Given the description of an element on the screen output the (x, y) to click on. 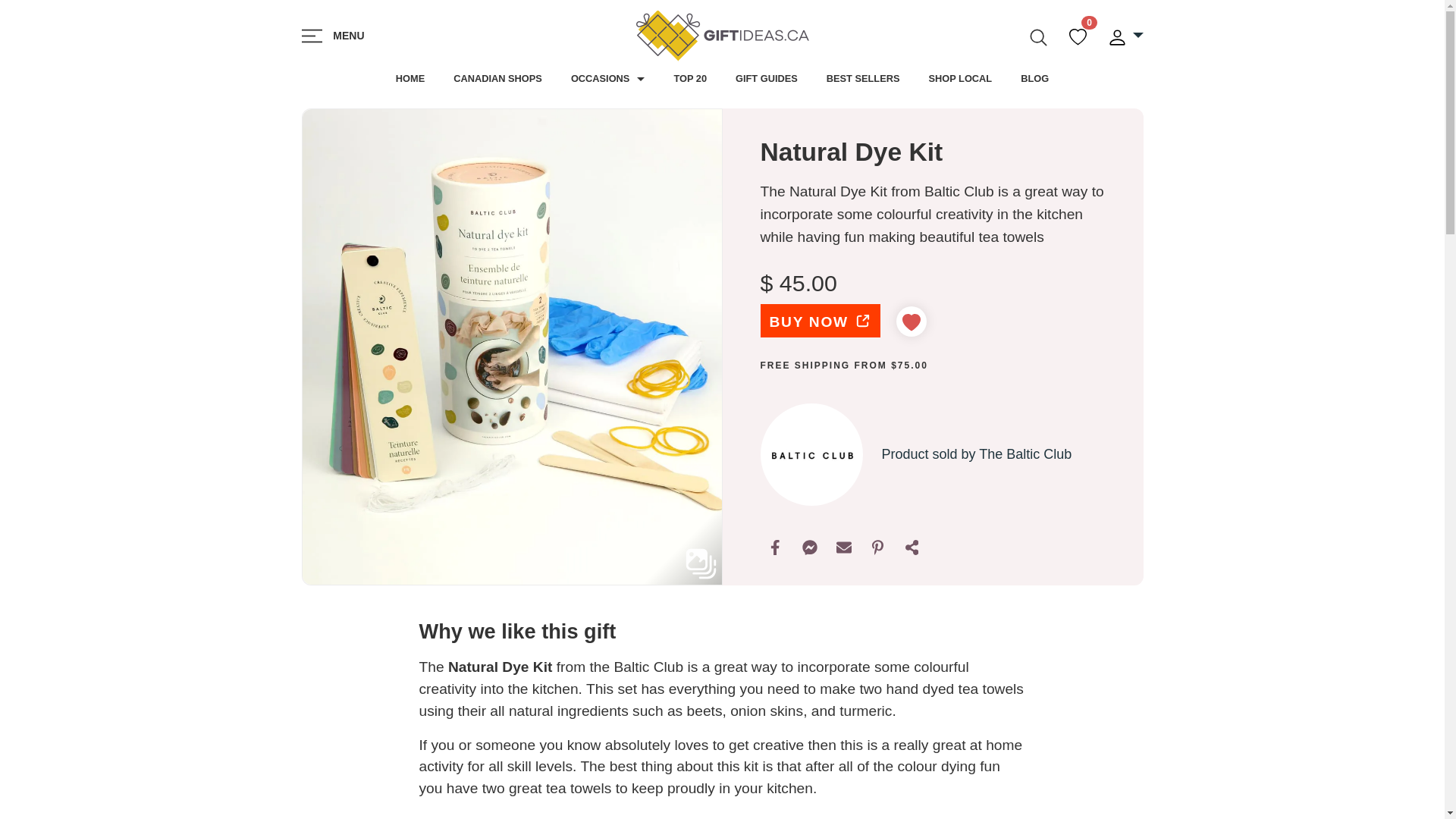
BUY NOW (819, 319)
0 (1080, 35)
Giftideas.ca (721, 35)
View all gift ideas from The Baltic Club (810, 454)
SHOP LOCAL (960, 78)
HOME (410, 78)
OCCASIONS (607, 78)
Product sold by The Baltic Club (975, 454)
BEST SELLERS (863, 78)
TOP 20 (689, 78)
